Given the description of an element on the screen output the (x, y) to click on. 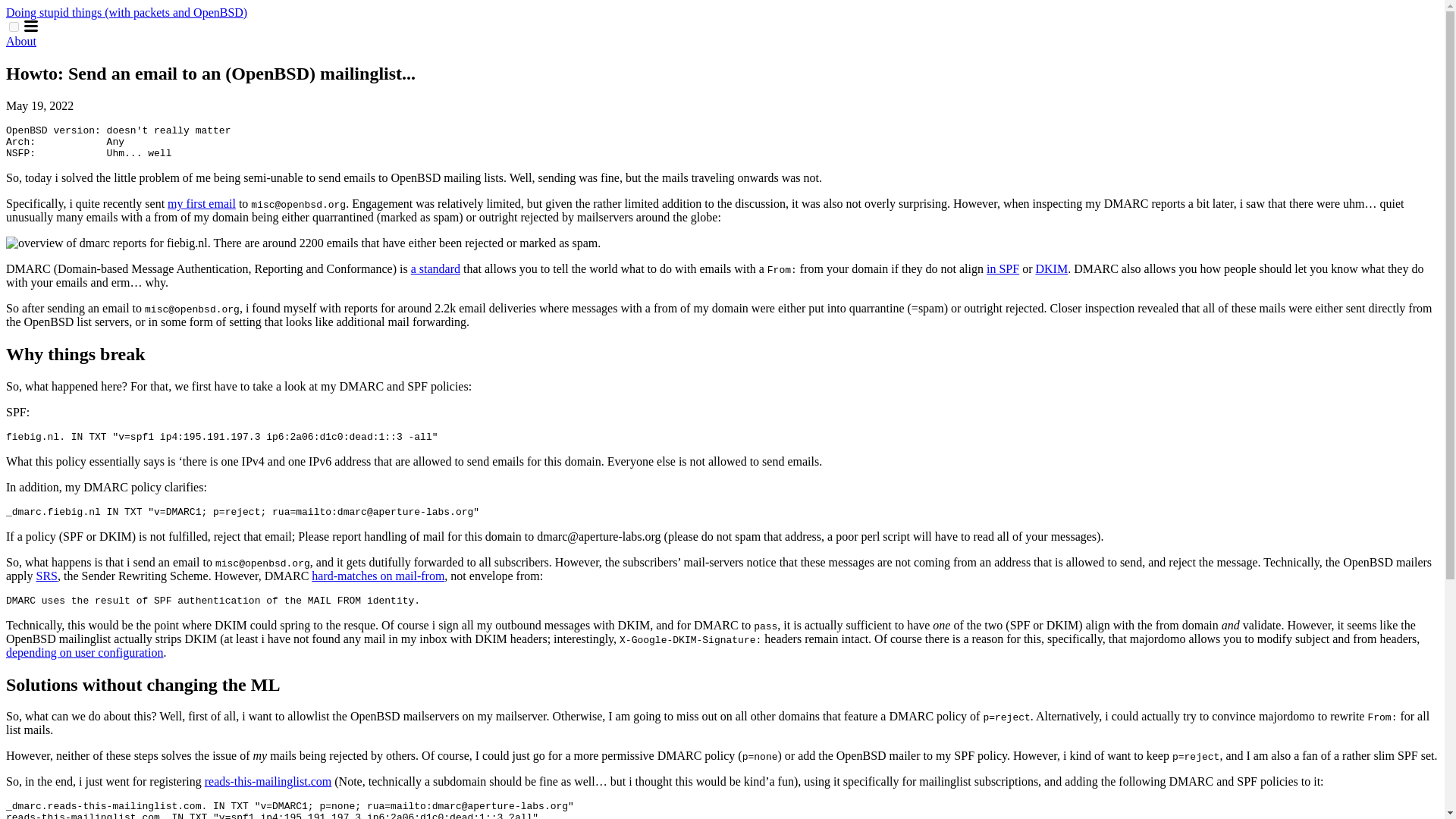
a standard (435, 268)
About (20, 41)
DKIM (1051, 268)
hard-matches on mail-from (377, 575)
my first email (201, 203)
reads-this-mailinglist.com (268, 780)
depending on user configuration (84, 652)
in SPF (1003, 268)
SRS (47, 575)
on (13, 26)
